Given the description of an element on the screen output the (x, y) to click on. 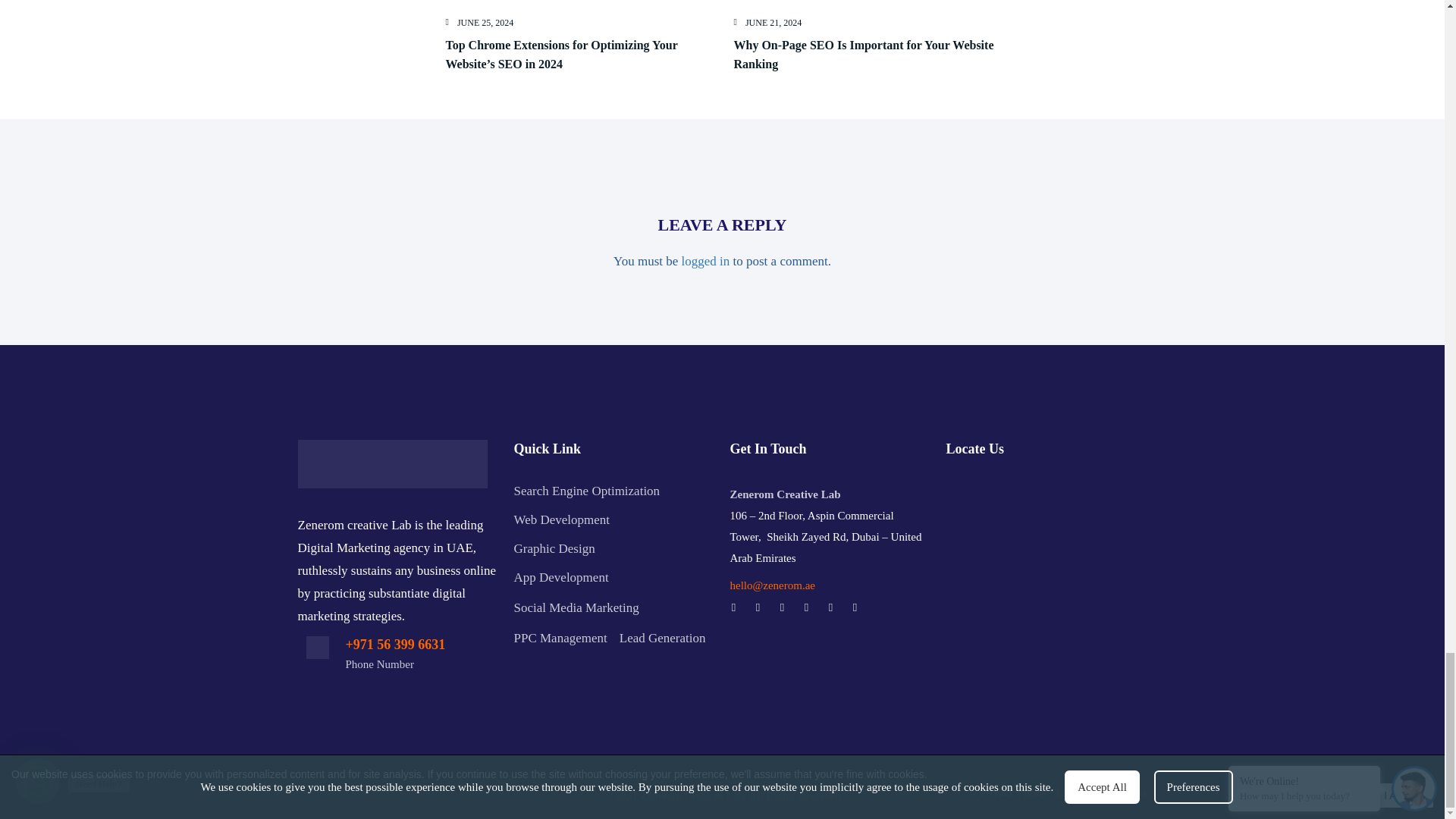
Why On-Page SEO Is Important for Your Website Ranking (863, 54)
